Given the description of an element on the screen output the (x, y) to click on. 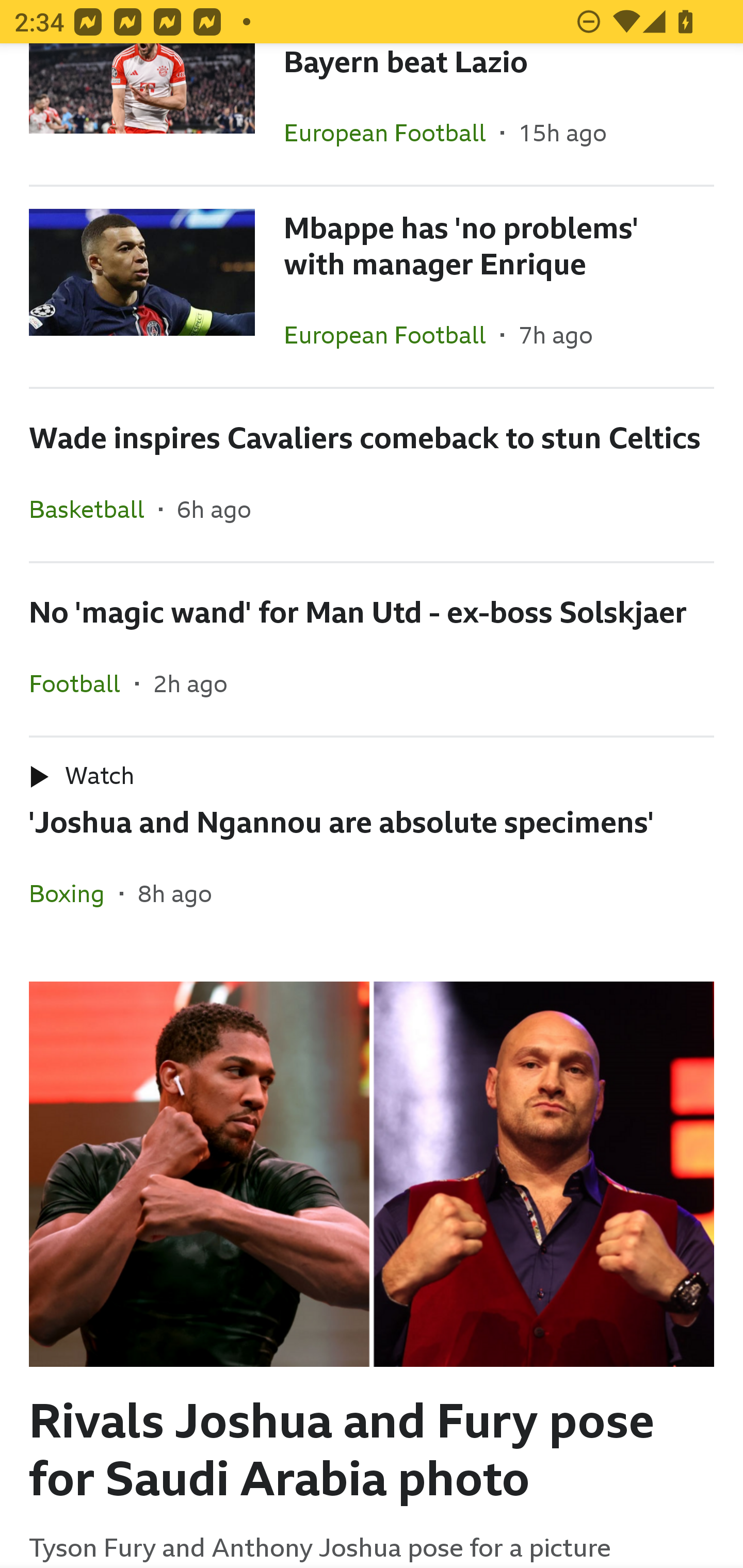
European Football In the section European Football (391, 132)
European Football In the section European Football (391, 334)
Basketball In the section Basketball (93, 508)
Football In the section Football (81, 683)
Boxing In the section Boxing (73, 893)
